Given the description of an element on the screen output the (x, y) to click on. 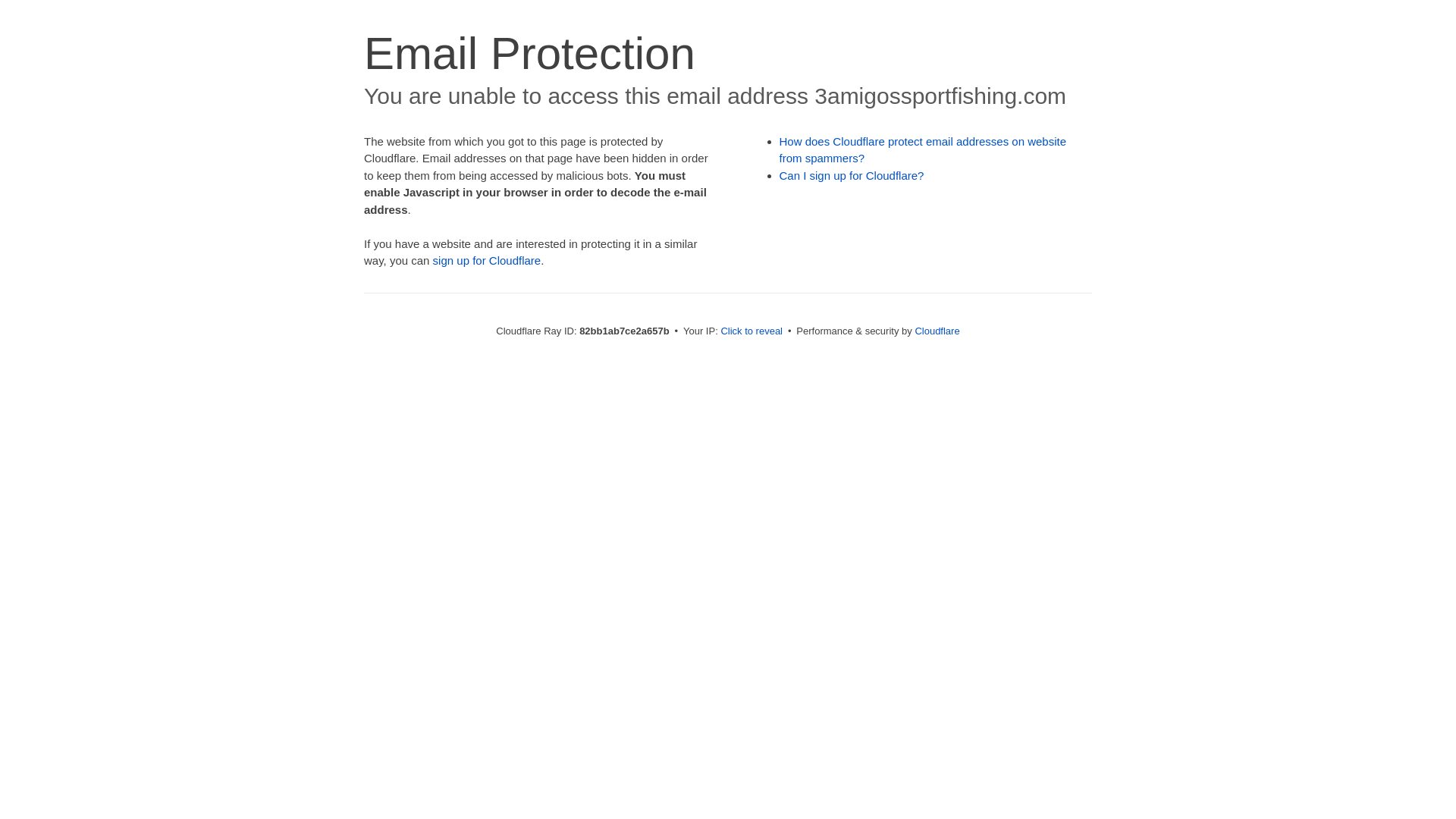
Can I sign up for Cloudflare? Element type: text (851, 175)
Cloudflare Element type: text (936, 330)
sign up for Cloudflare Element type: text (487, 260)
Click to reveal Element type: text (751, 330)
